Given the description of an element on the screen output the (x, y) to click on. 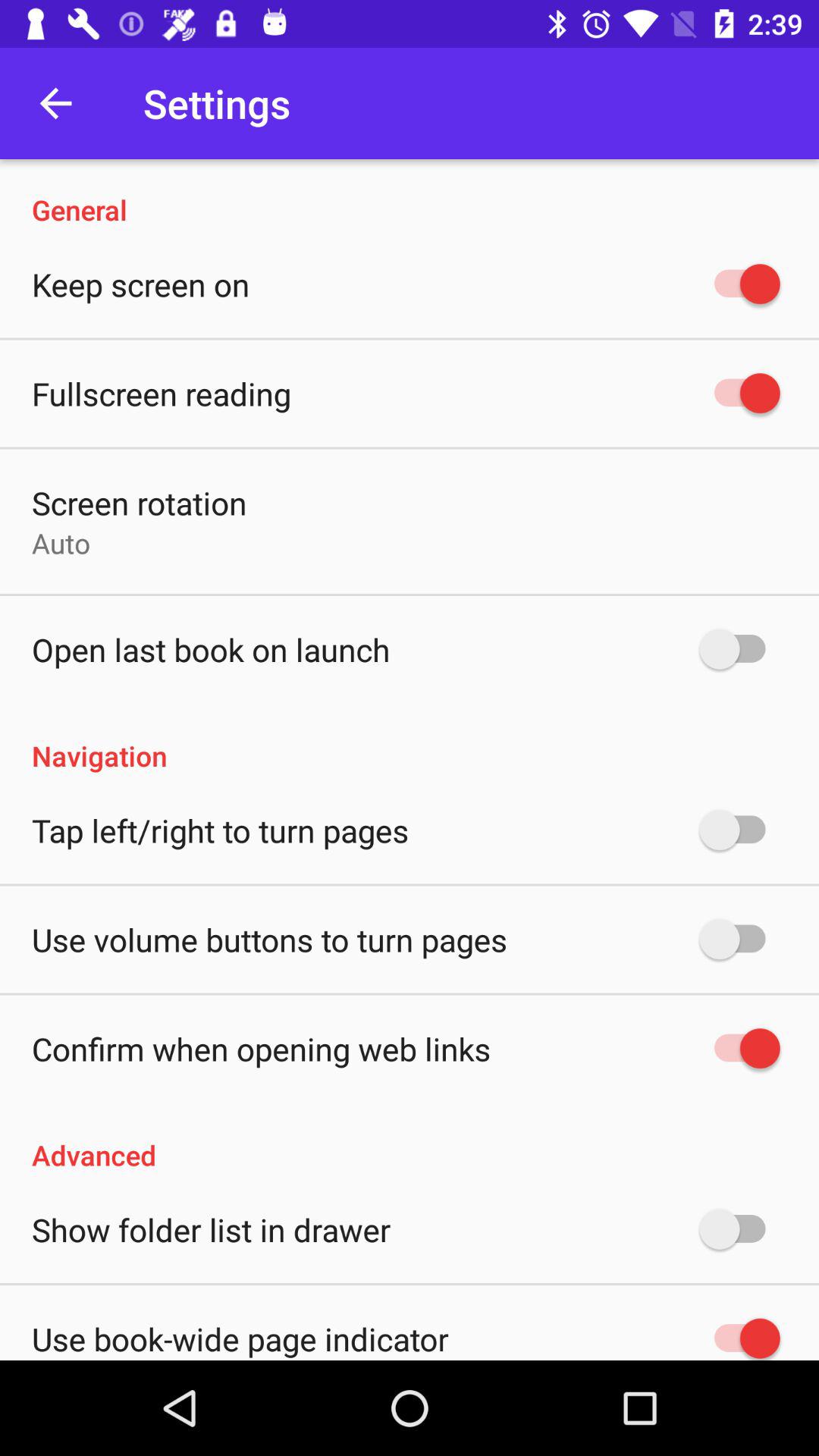
click general (409, 193)
